Given the description of an element on the screen output the (x, y) to click on. 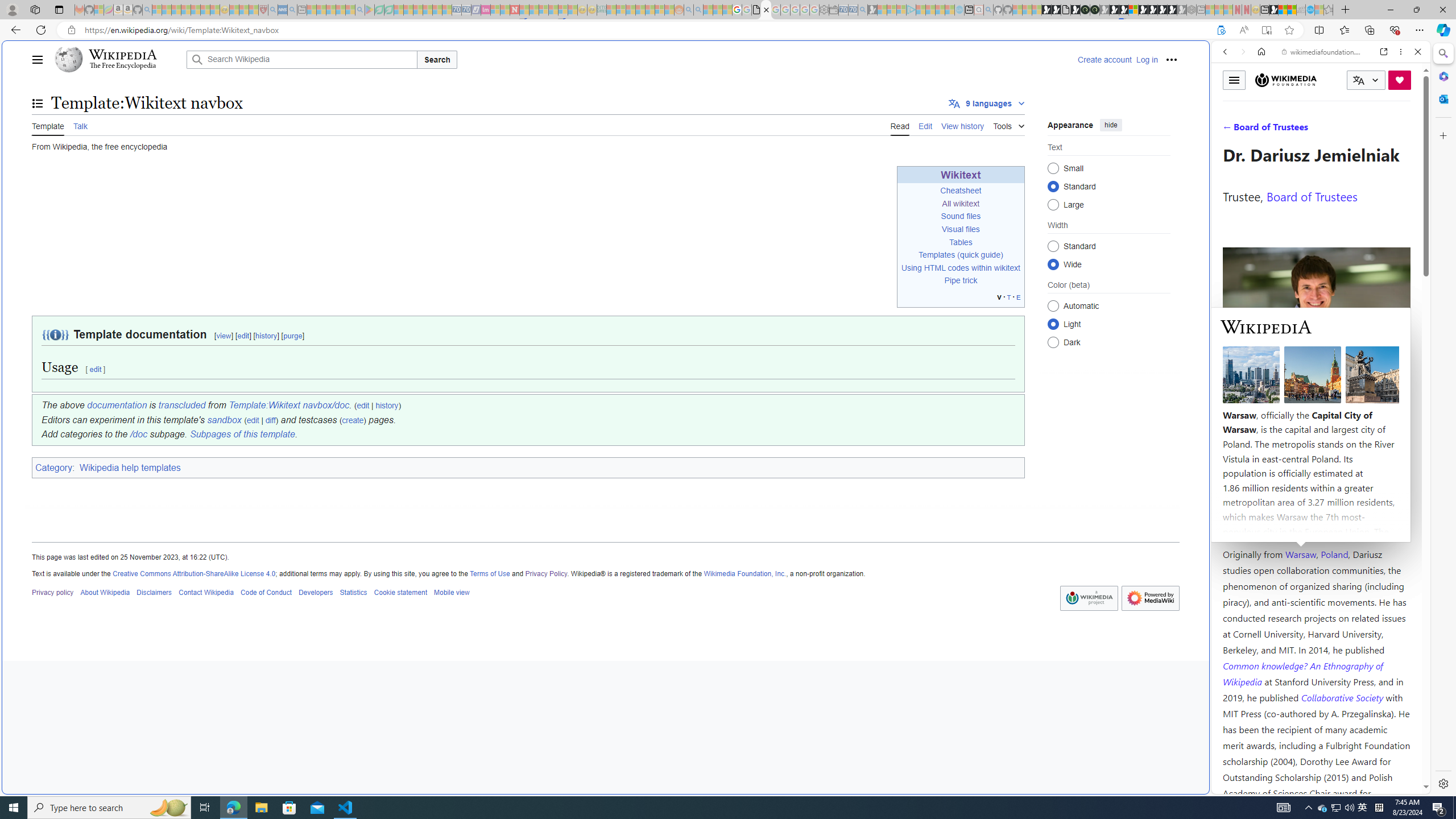
Small (1053, 167)
Visual files (960, 228)
